Given the description of an element on the screen output the (x, y) to click on. 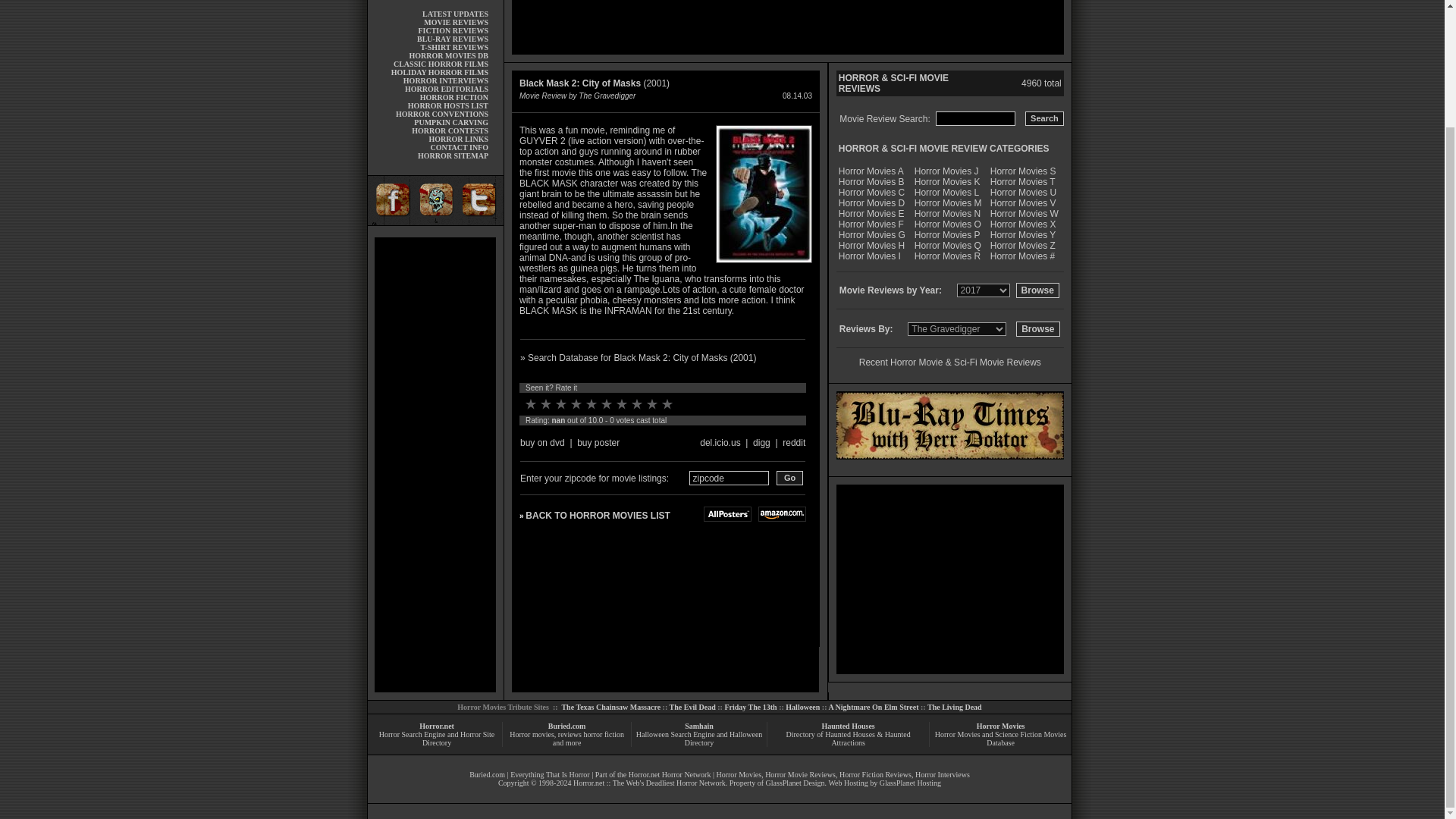
HORROR SITEMAP (452, 155)
LATEST UPDATES (454, 13)
HORROR INTERVIEWS (445, 80)
MOVIE REVIEWS (455, 22)
4 (576, 403)
CLASSIC HORROR FILMS (440, 63)
Buried.com - Everything That Is Horror (454, 13)
Browse (1037, 328)
HORROR FICTION (453, 97)
HOLIDAY HORROR FILMS (439, 71)
FICTION REVIEWS (452, 30)
HORROR CONTESTS (449, 130)
Search (1044, 118)
PUMPKIN CARVING (450, 121)
3 (561, 403)
